Given the description of an element on the screen output the (x, y) to click on. 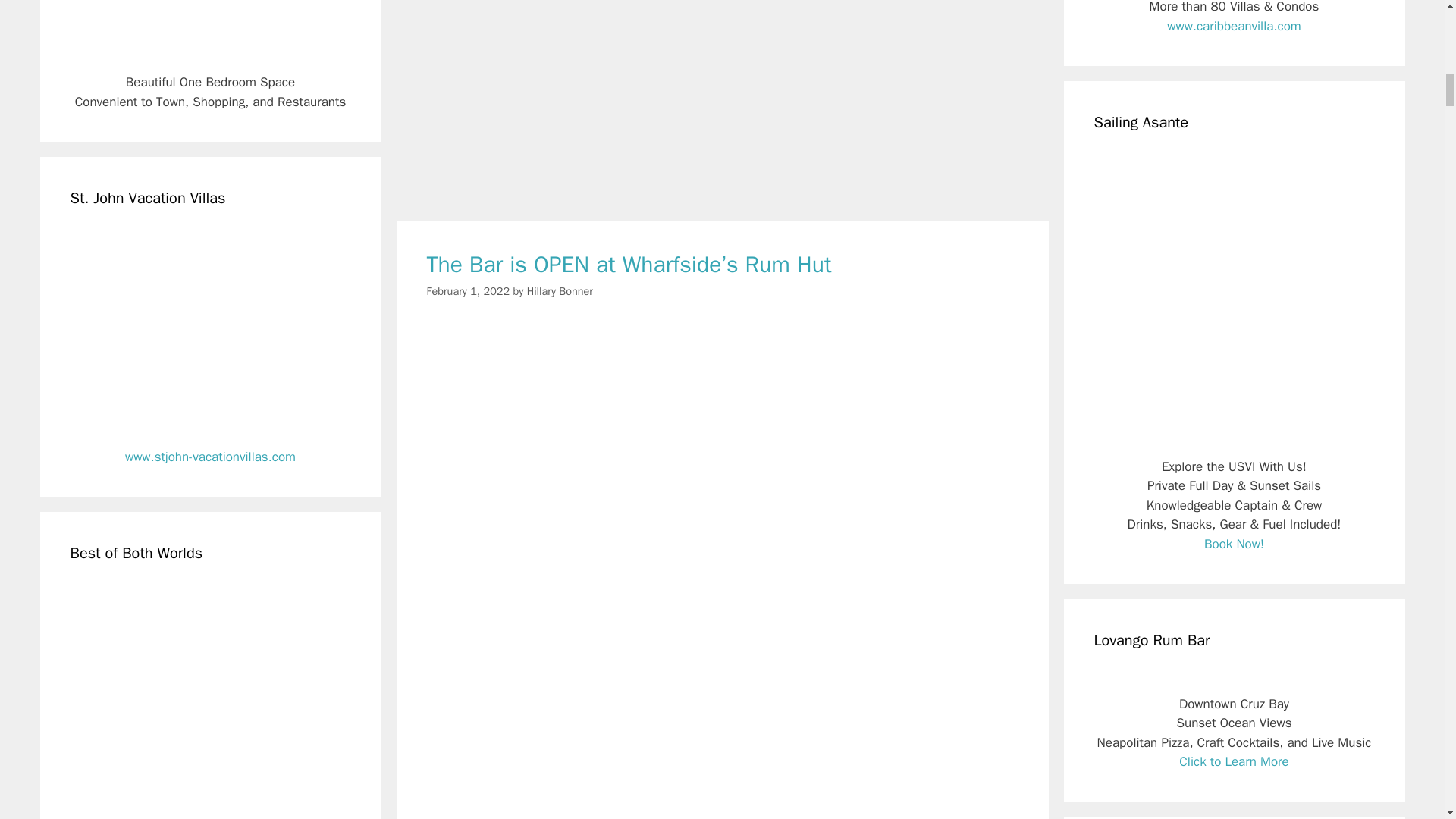
View all posts by Hillary Bonner (559, 291)
February 1, 2022 (467, 291)
Advertisement (722, 102)
6:31 am (467, 291)
